Given the description of an element on the screen output the (x, y) to click on. 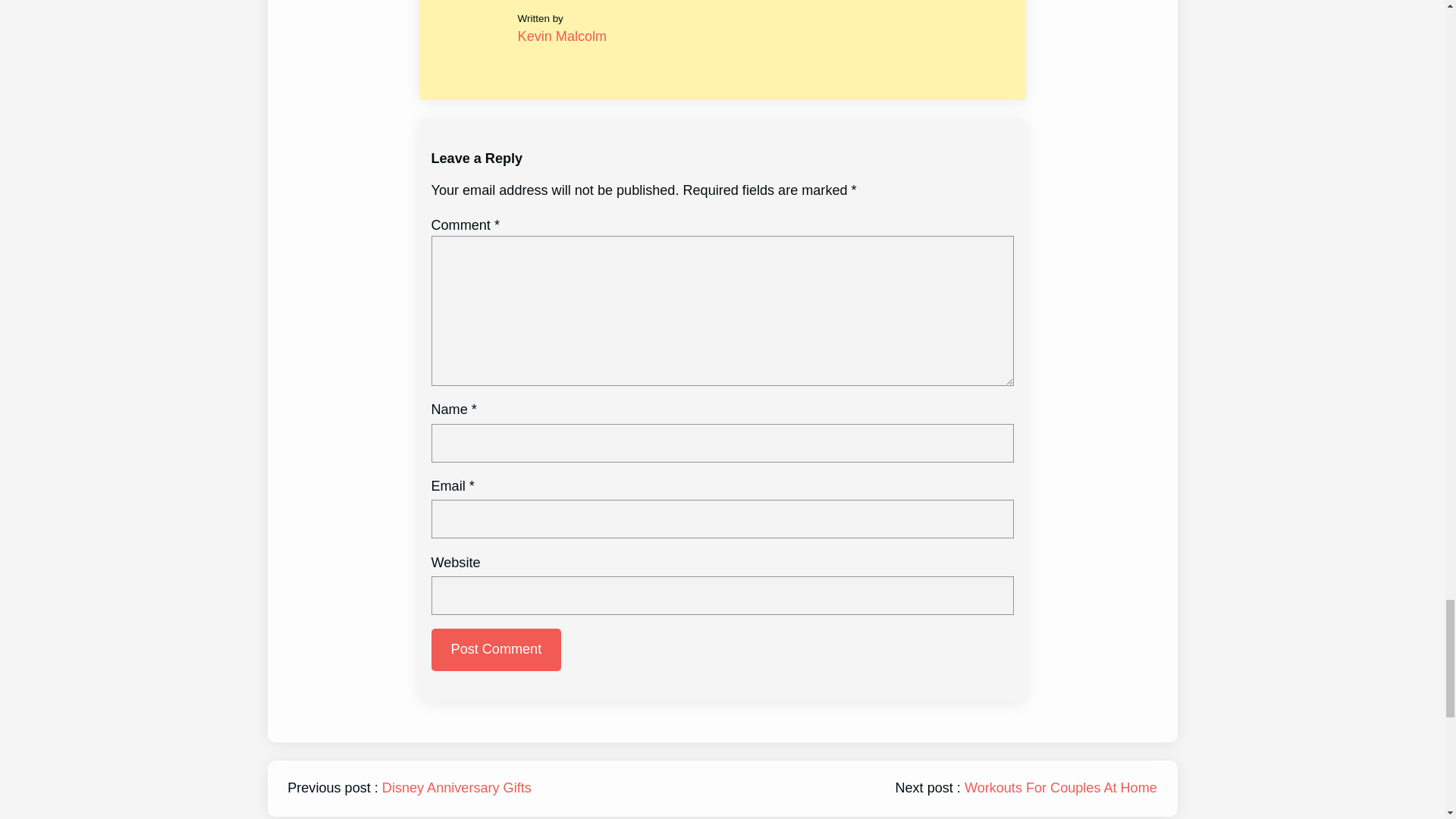
Post Comment (495, 649)
Workouts For Couples At Home (1060, 787)
Post Comment (495, 649)
Disney Anniversary Gifts (456, 787)
Kevin Malcolm (562, 36)
